Given the description of an element on the screen output the (x, y) to click on. 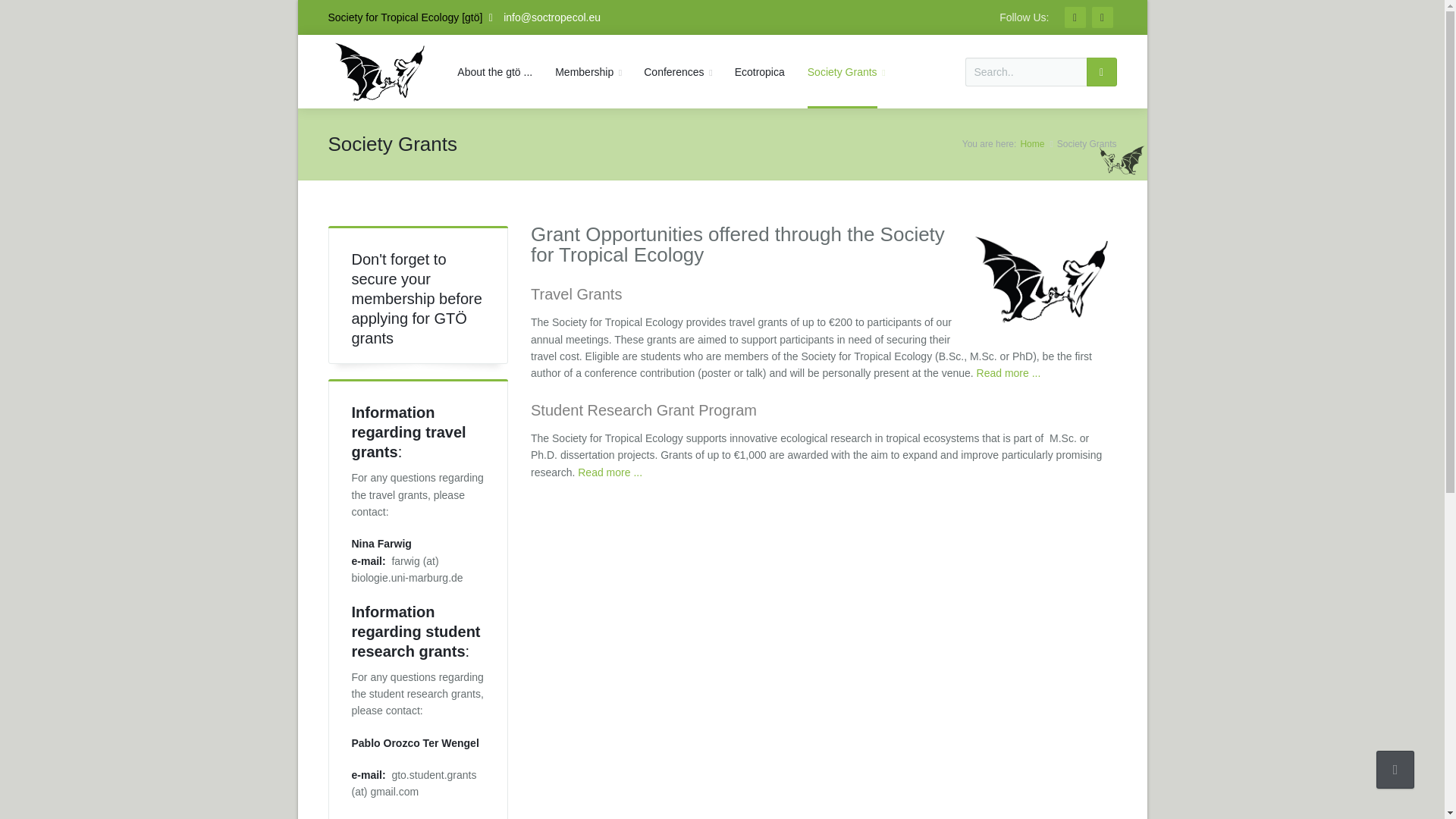
Ecotropica (759, 72)
Society Grants (846, 72)
Conferences (676, 72)
Become a member and support the community ... (587, 72)
Grants offered through the Society for Tropical Ecology (846, 72)
Enter the terms you wish to search for. (1024, 71)
Membership (587, 72)
